Given the description of an element on the screen output the (x, y) to click on. 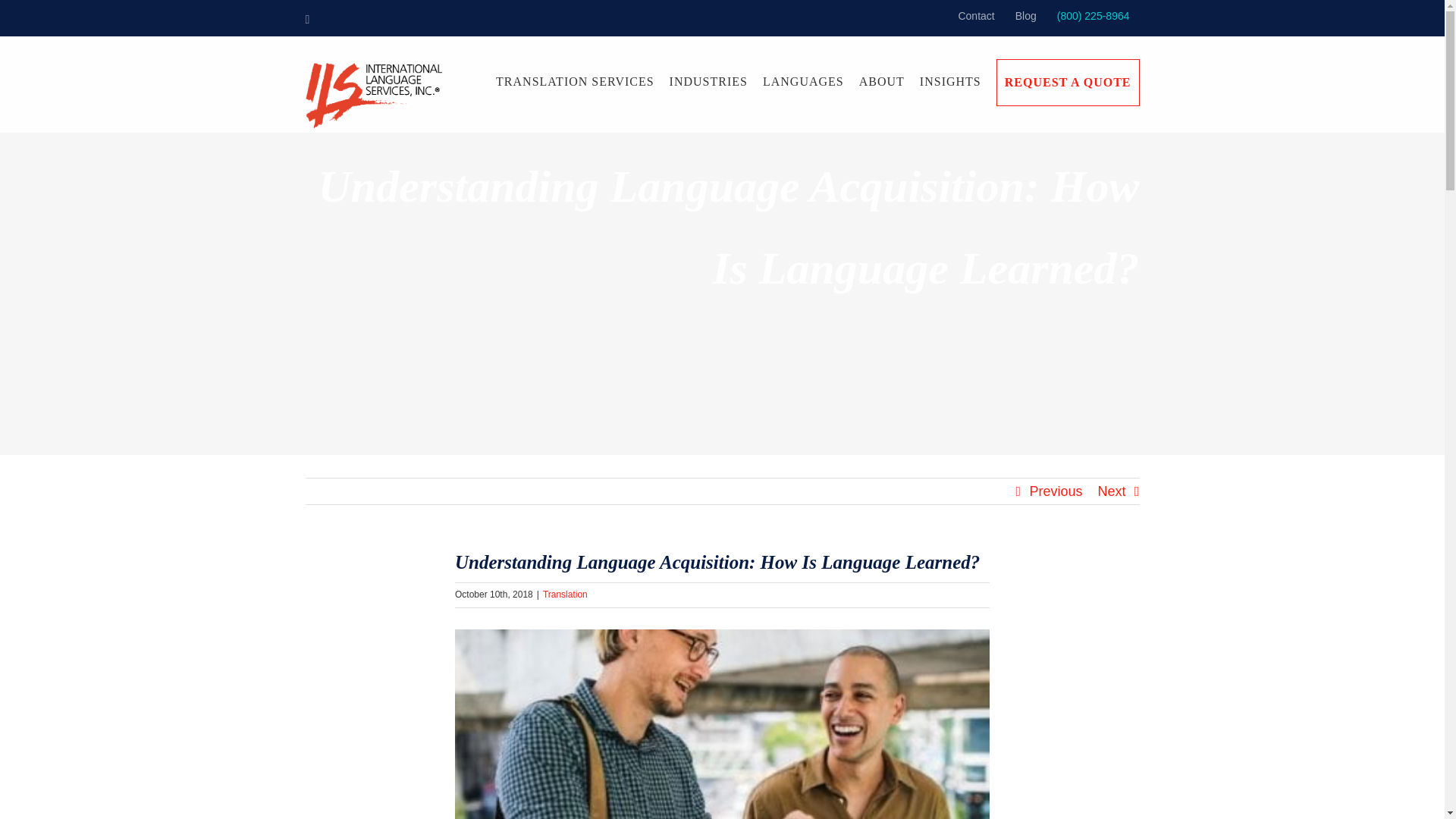
TRANSLATION SERVICES (574, 81)
Contact (975, 16)
call-us (1093, 16)
Blog (1026, 16)
INDUSTRIES (708, 81)
